Given the description of an element on the screen output the (x, y) to click on. 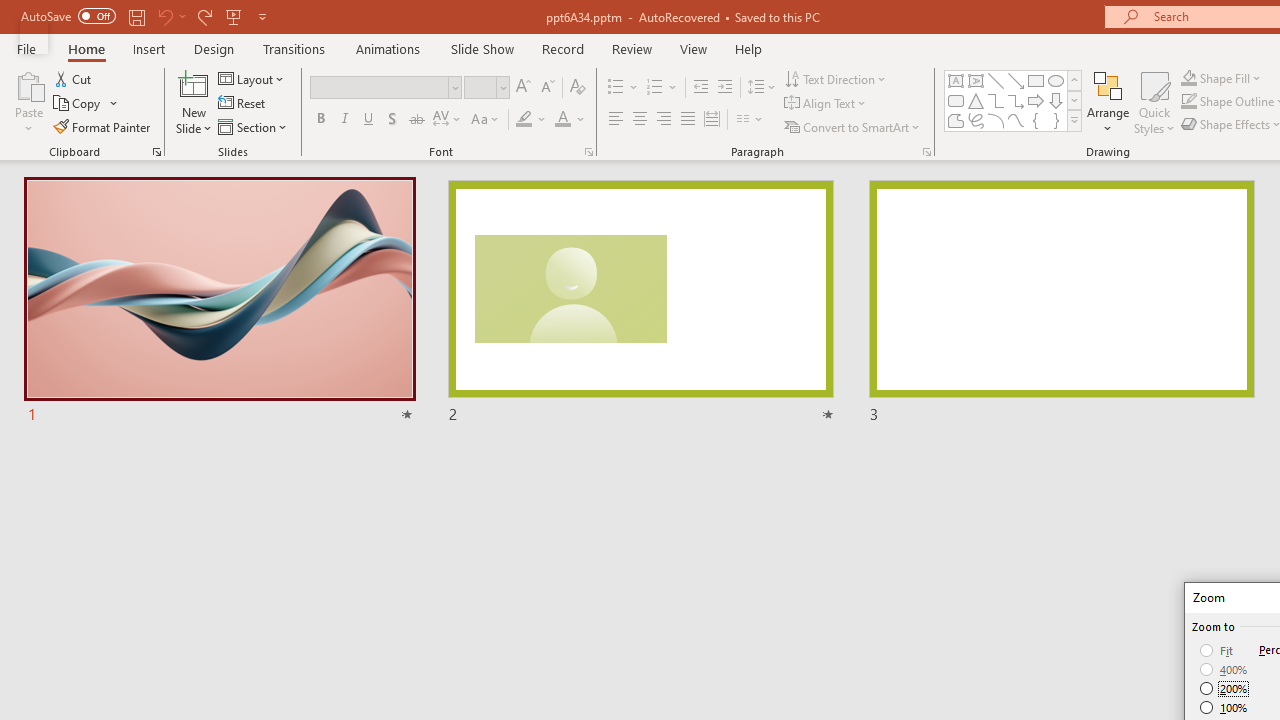
Left Brace (1035, 120)
Shape Outline (1188, 101)
Freeform: Scribble (975, 120)
Format Painter (103, 126)
Fit (1217, 650)
Distributed (712, 119)
Line Arrow (1016, 80)
Section (254, 126)
Paragraph... (926, 151)
